Given the description of an element on the screen output the (x, y) to click on. 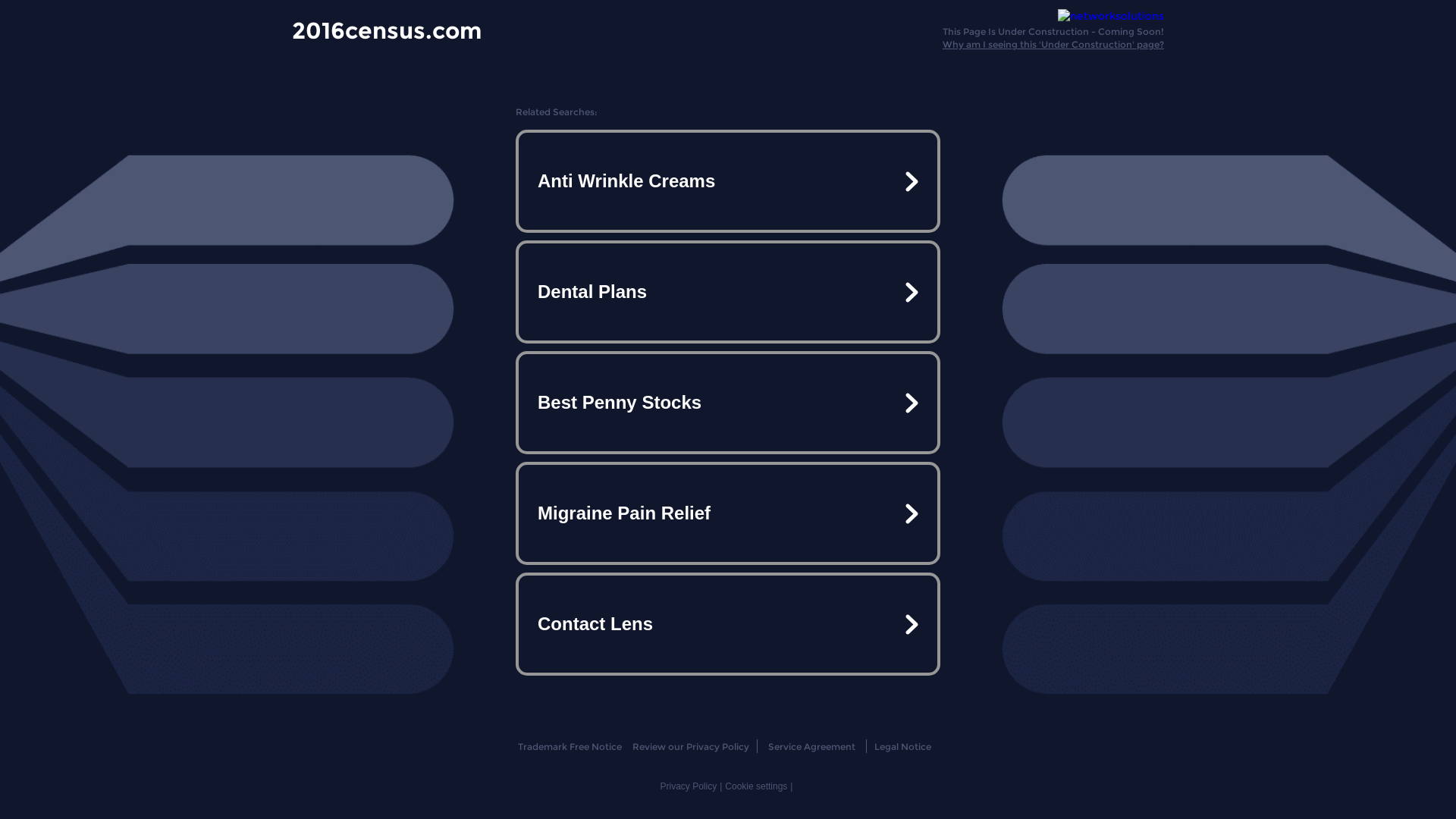
Dental Plans Element type: text (727, 291)
Best Penny Stocks Element type: text (727, 402)
Privacy Policy Element type: text (687, 786)
Why am I seeing this 'Under Construction' page? Element type: text (1053, 44)
Cookie settings Element type: text (755, 786)
Anti Wrinkle Creams Element type: text (727, 180)
Migraine Pain Relief Element type: text (727, 512)
Legal Notice Element type: text (901, 746)
Trademark Free Notice Element type: text (569, 746)
2016census.com Element type: text (386, 29)
Service Agreement Element type: text (810, 746)
Contact Lens Element type: text (727, 623)
Review our Privacy Policy Element type: text (690, 746)
